Given the description of an element on the screen output the (x, y) to click on. 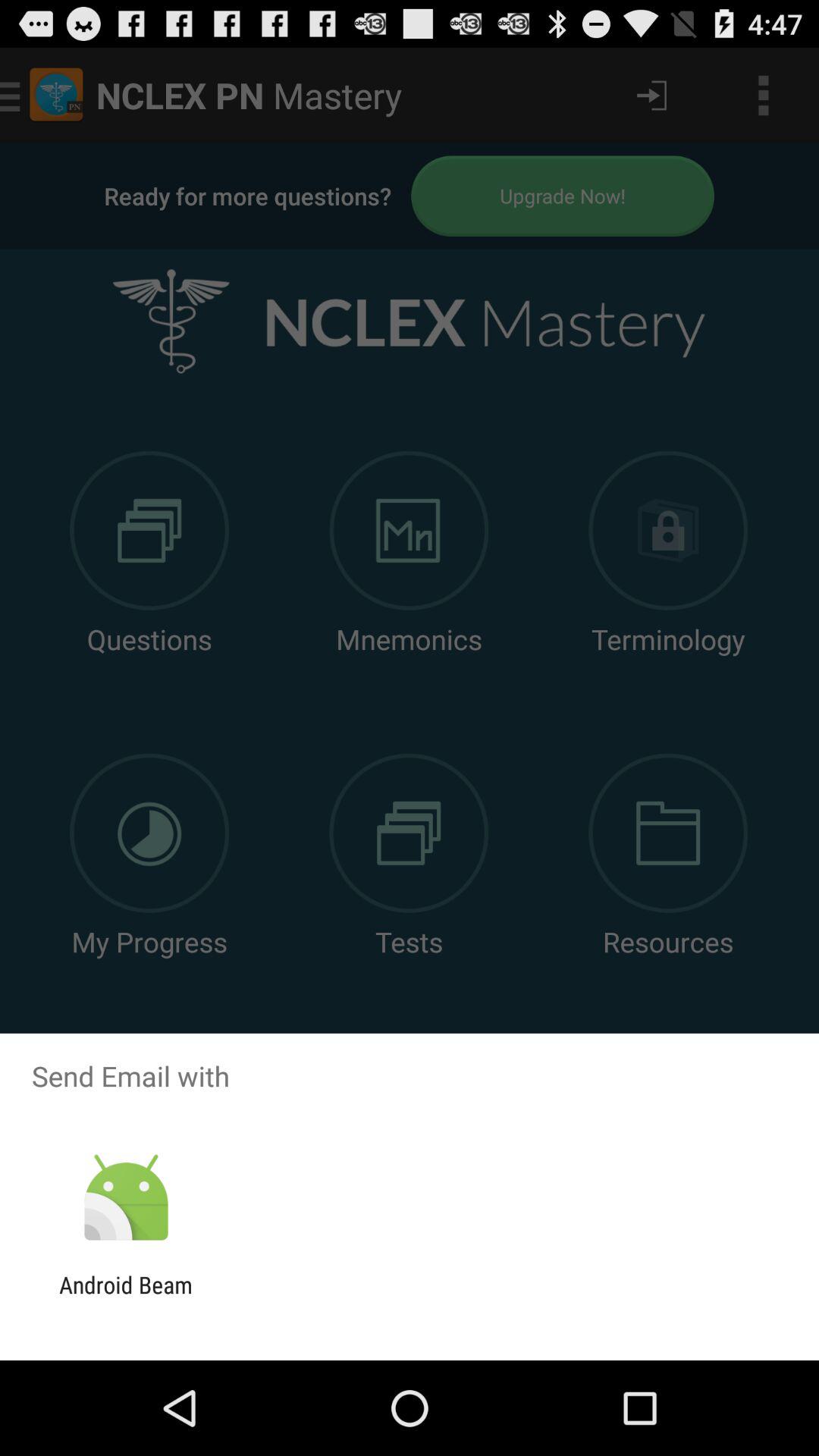
open app below send email with (126, 1198)
